Given the description of an element on the screen output the (x, y) to click on. 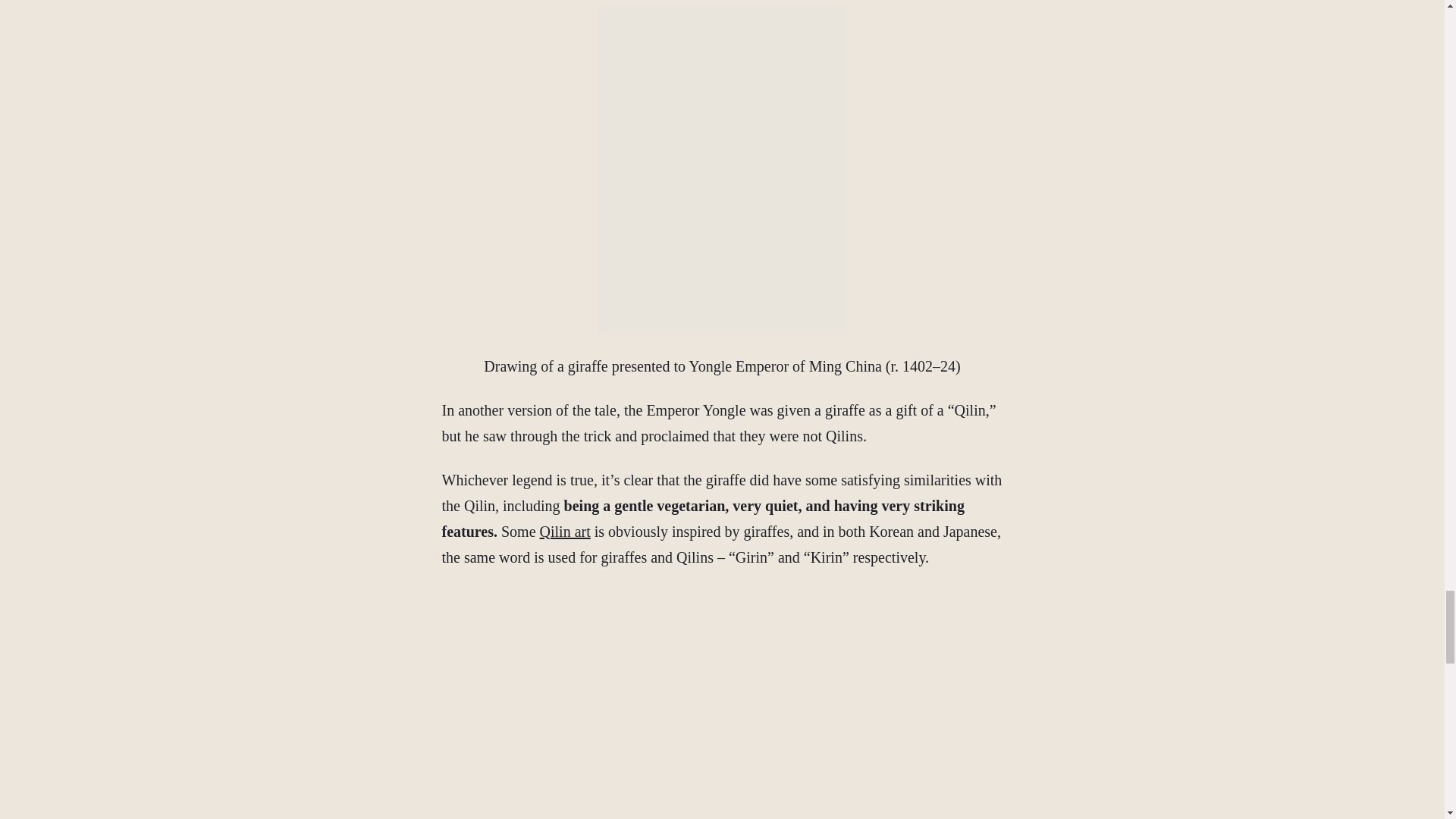
Qilin art (565, 531)
